Given the description of an element on the screen output the (x, y) to click on. 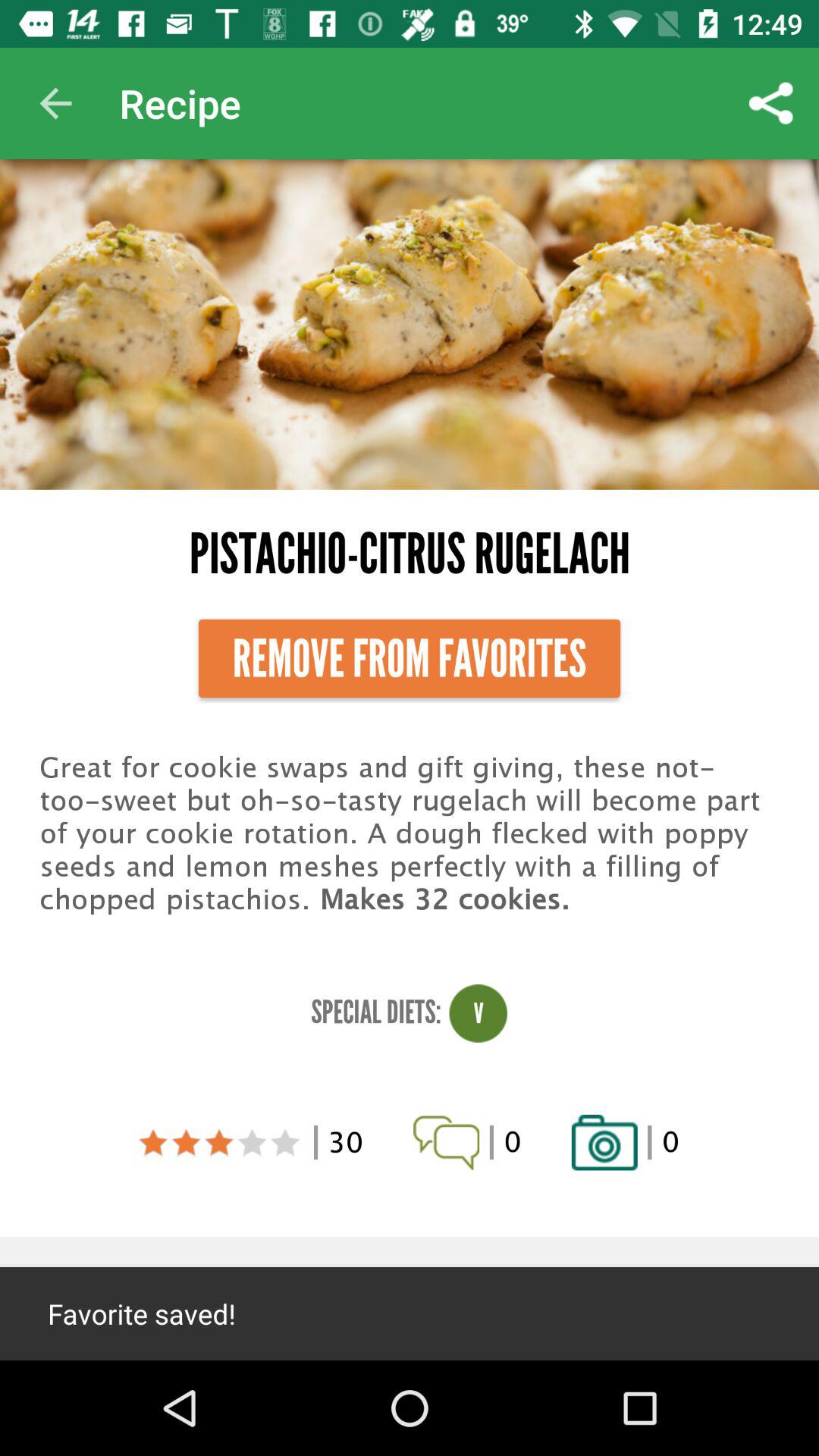
tap item above great for cookie (409, 658)
